Given the description of an element on the screen output the (x, y) to click on. 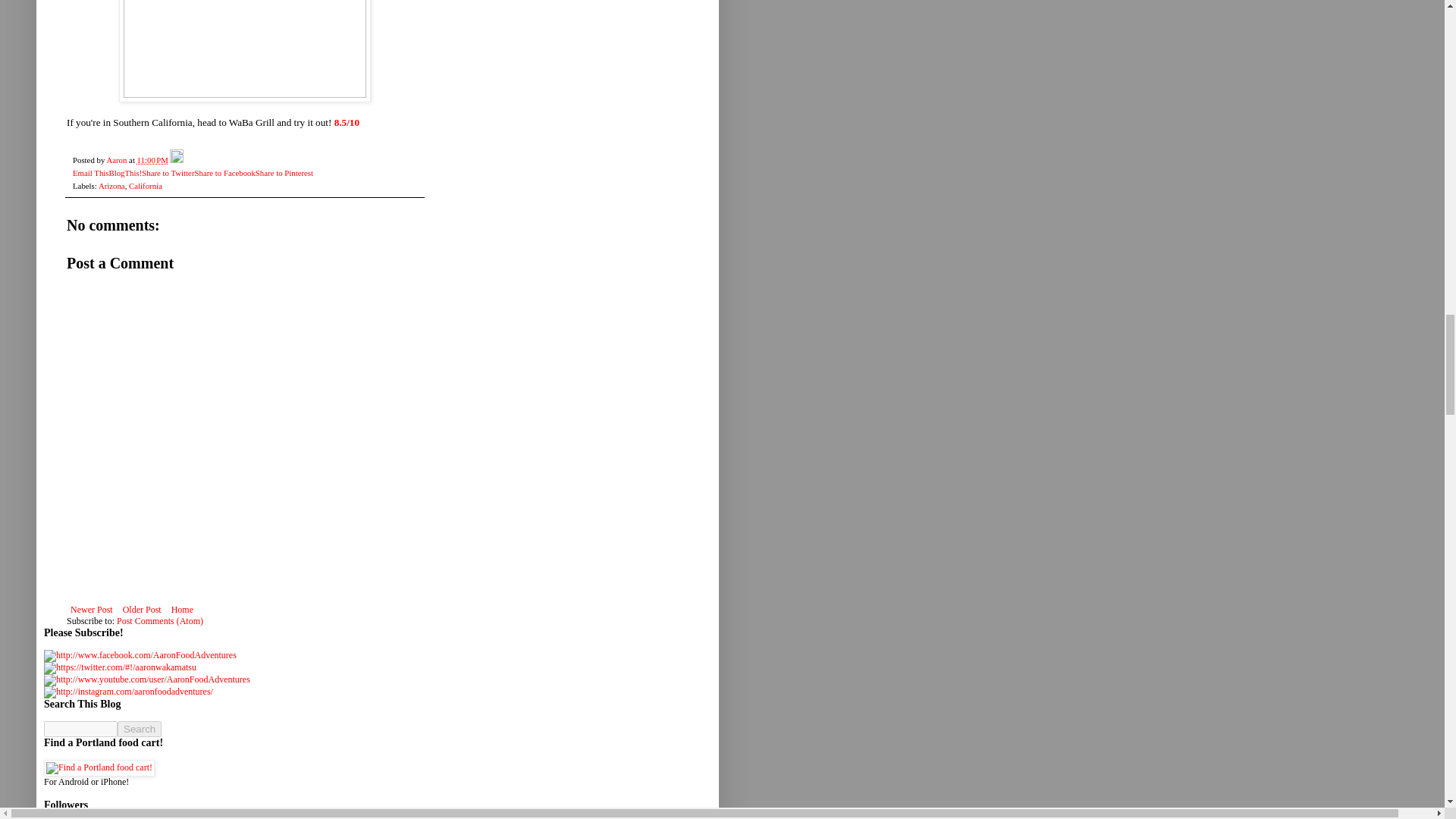
Newer Post (91, 609)
BlogThis! (124, 172)
California (145, 185)
author profile (117, 159)
Home (181, 609)
Aaron (117, 159)
Edit Post (176, 159)
Email This (89, 172)
Share to Pinterest (284, 172)
Older Post (142, 609)
Search (139, 729)
Share to Facebook (223, 172)
Arizona (112, 185)
Share to Pinterest (284, 172)
